Given the description of an element on the screen output the (x, y) to click on. 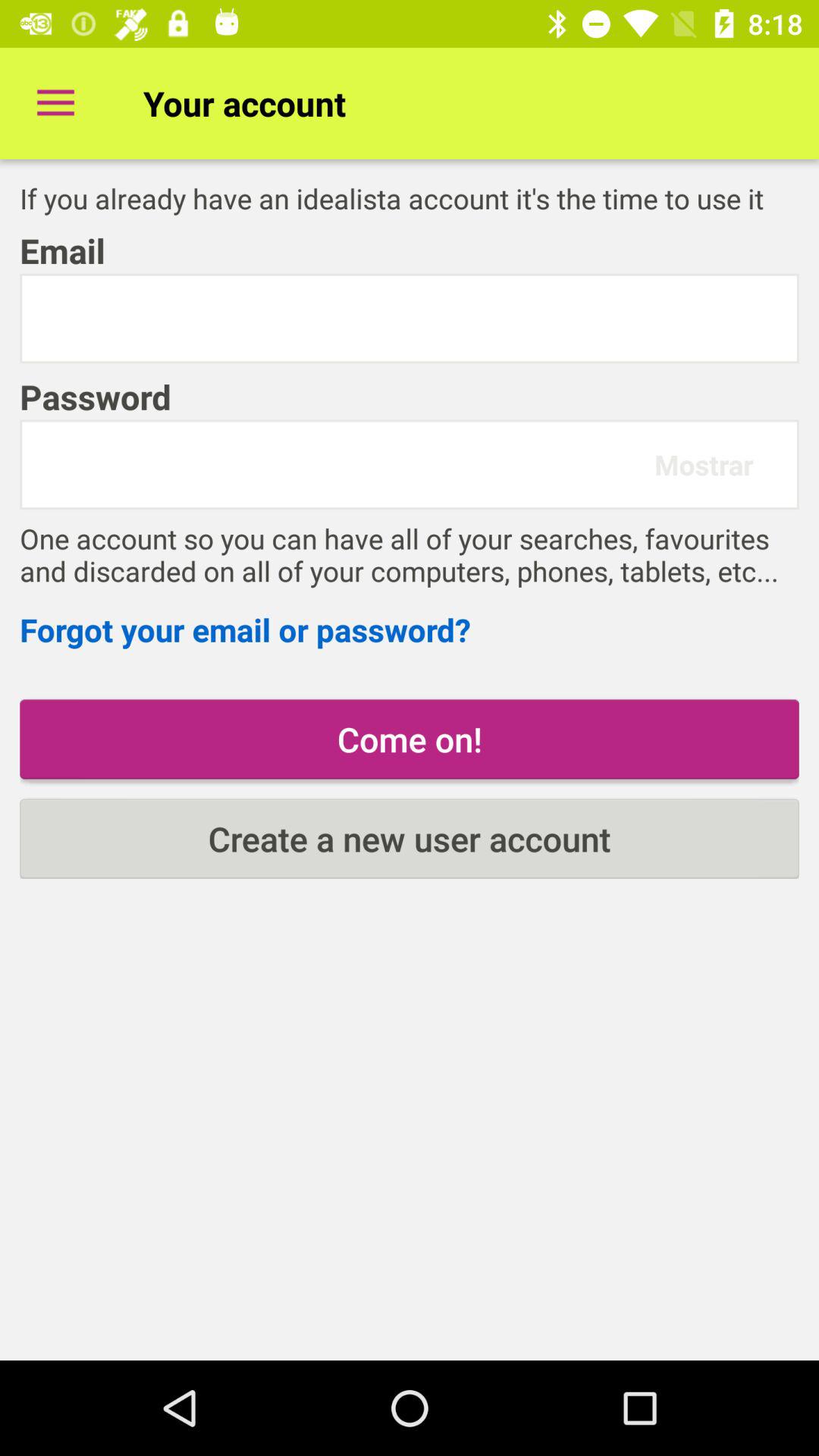
enter email id here (409, 318)
